Given the description of an element on the screen output the (x, y) to click on. 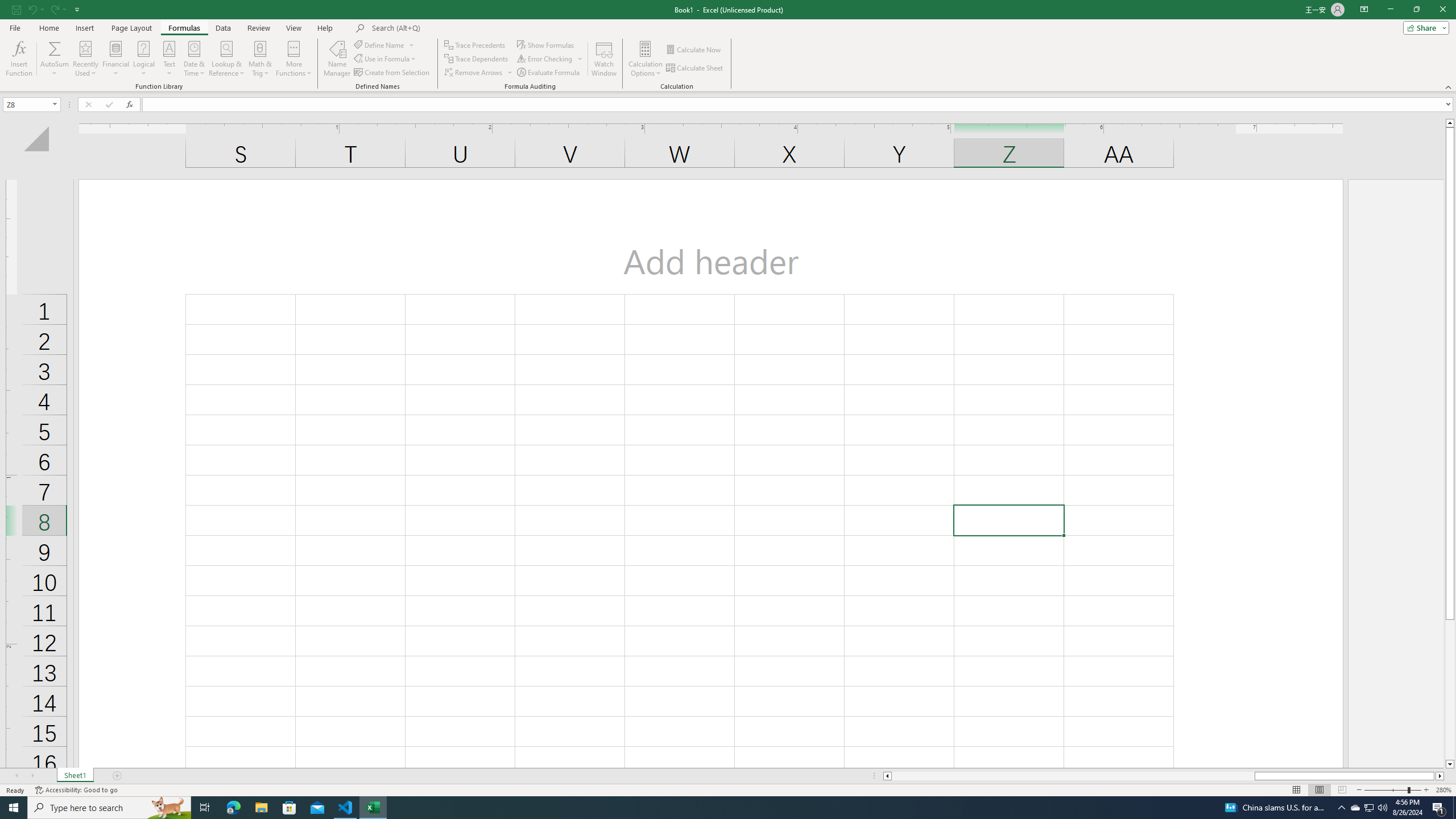
Text (169, 58)
Financial (116, 58)
Create from Selection... (392, 72)
Remove Arrows (478, 72)
Define Name... (379, 44)
Trace Dependents (477, 58)
